Given the description of an element on the screen output the (x, y) to click on. 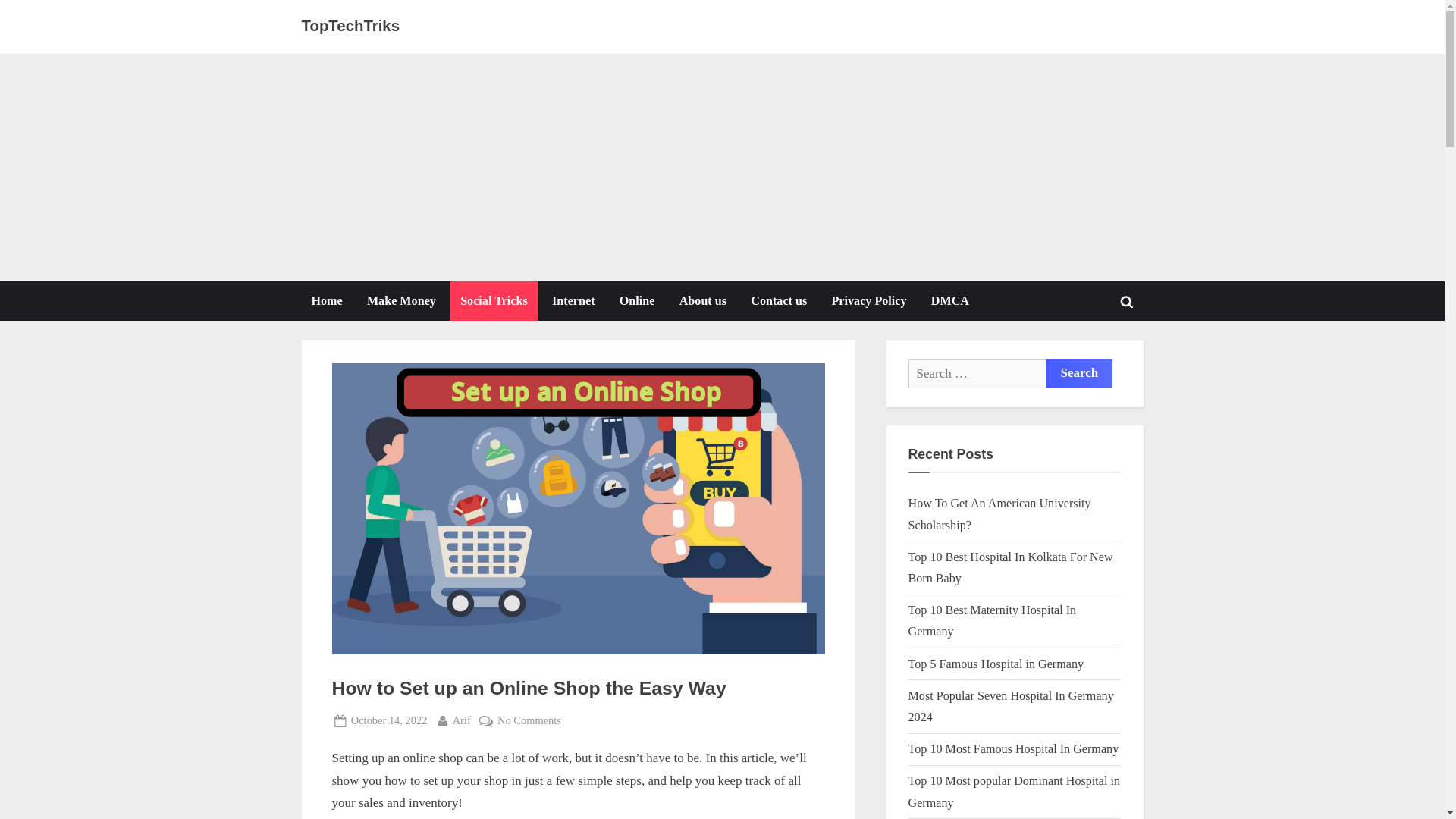
Social Tricks (528, 720)
Online (493, 301)
Privacy Policy (636, 301)
TopTechTriks (869, 301)
Top 10 Best Hospital In Kolkata For New Born Baby (350, 25)
How To Get An American University Scholarship? (1010, 567)
Make Money (999, 513)
Top 10 Best Maternity Hospital In Germany (400, 301)
Toggle search form (992, 620)
Search (1126, 300)
Search (1079, 373)
DMCA (1079, 373)
Top 5 Famous Hospital in Germany (949, 301)
